Given the description of an element on the screen output the (x, y) to click on. 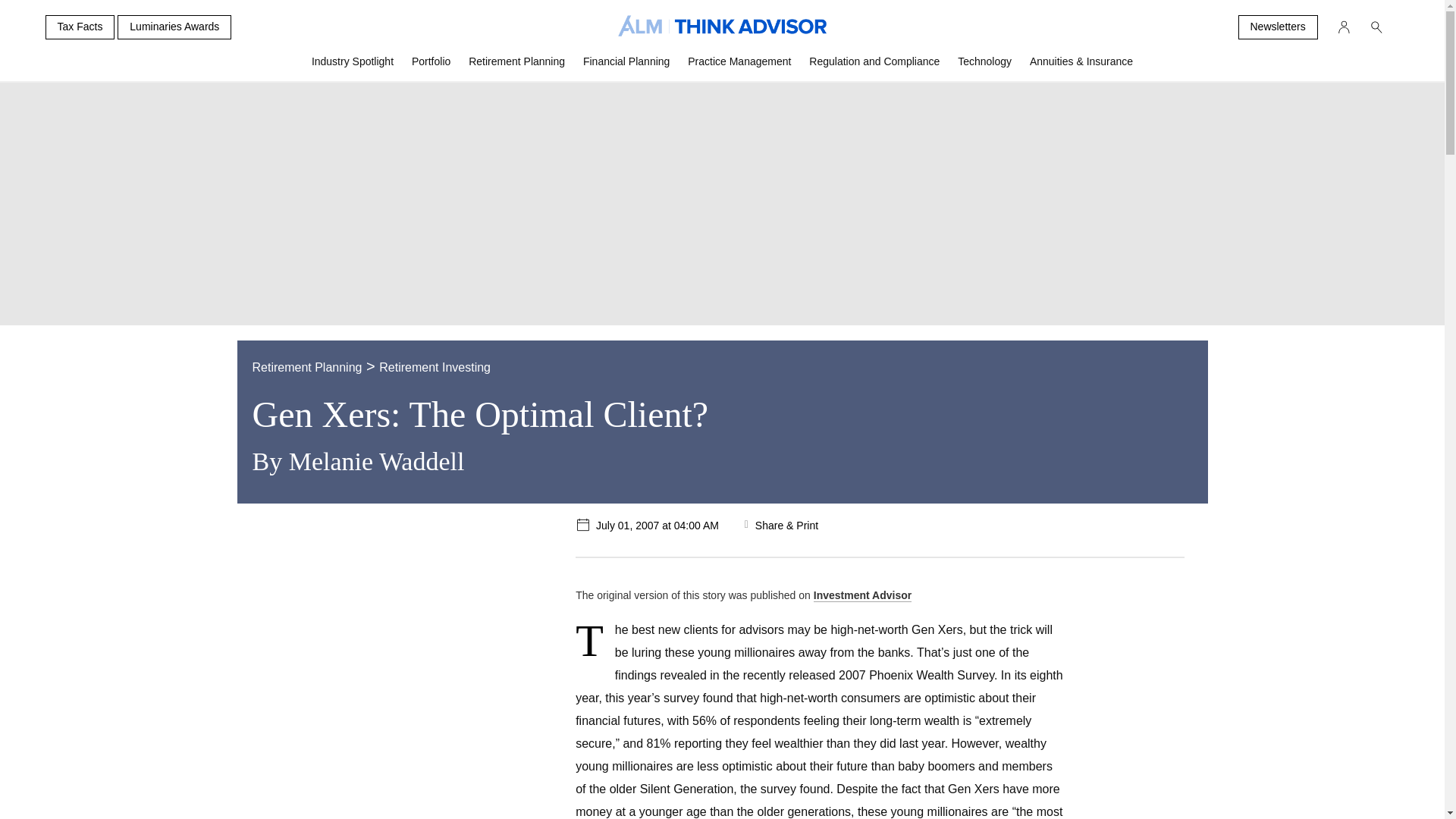
Newsletters (1277, 27)
Tax Facts (80, 27)
Luminaries Awards (174, 27)
Industry Spotlight (352, 67)
